Given the description of an element on the screen output the (x, y) to click on. 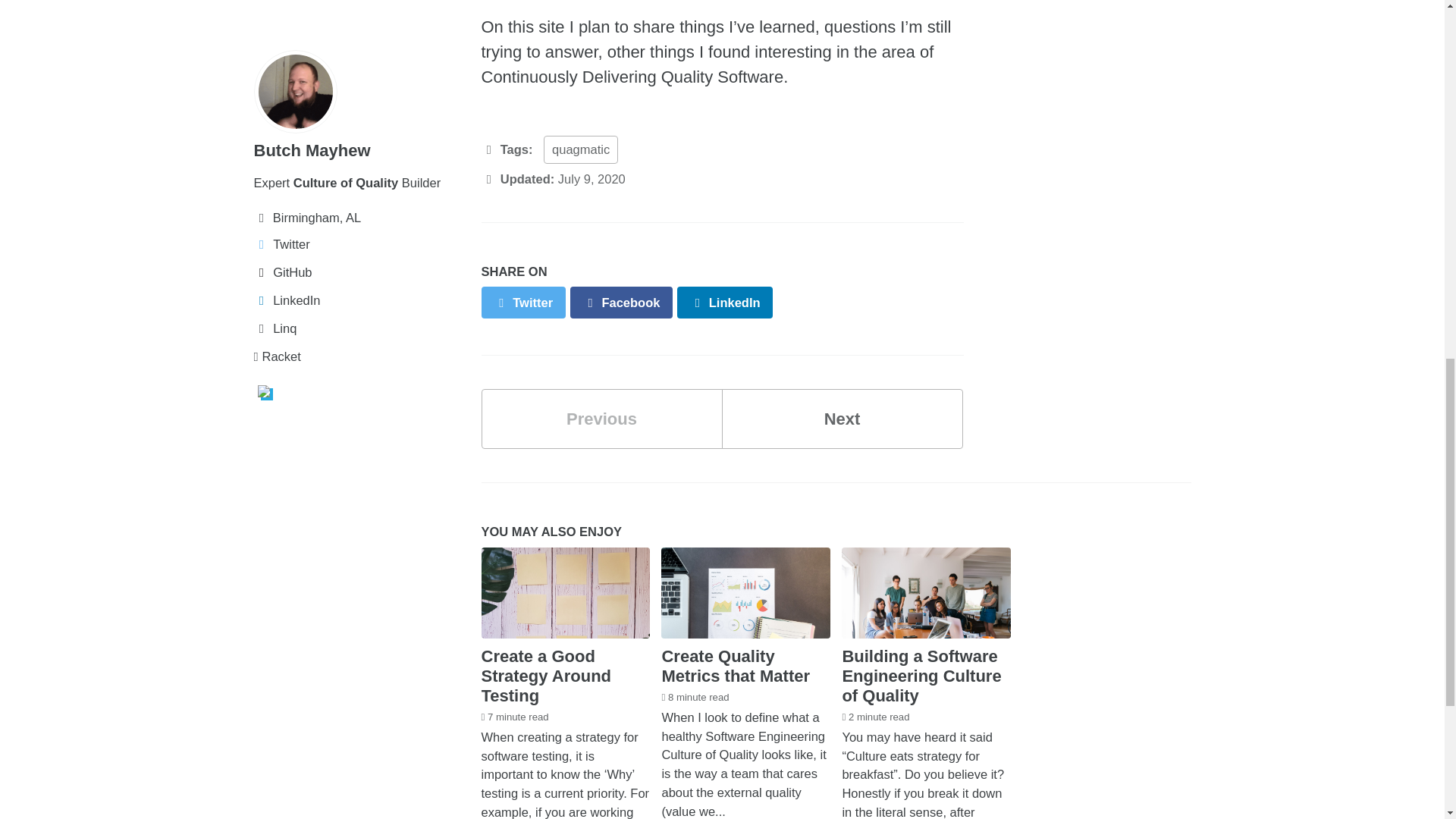
Next (842, 418)
Building a Software Engineering Culture of Quality (921, 676)
Previous (601, 418)
Create Quality Metrics that Matter (735, 666)
Share on LinkedIn (725, 301)
Facebook (621, 301)
Twitter (522, 301)
Share on Facebook (621, 301)
Create a Good Strategy Around Testing (545, 676)
quagmatic (580, 149)
Share on Twitter (522, 301)
LinkedIn (842, 418)
